Given the description of an element on the screen output the (x, y) to click on. 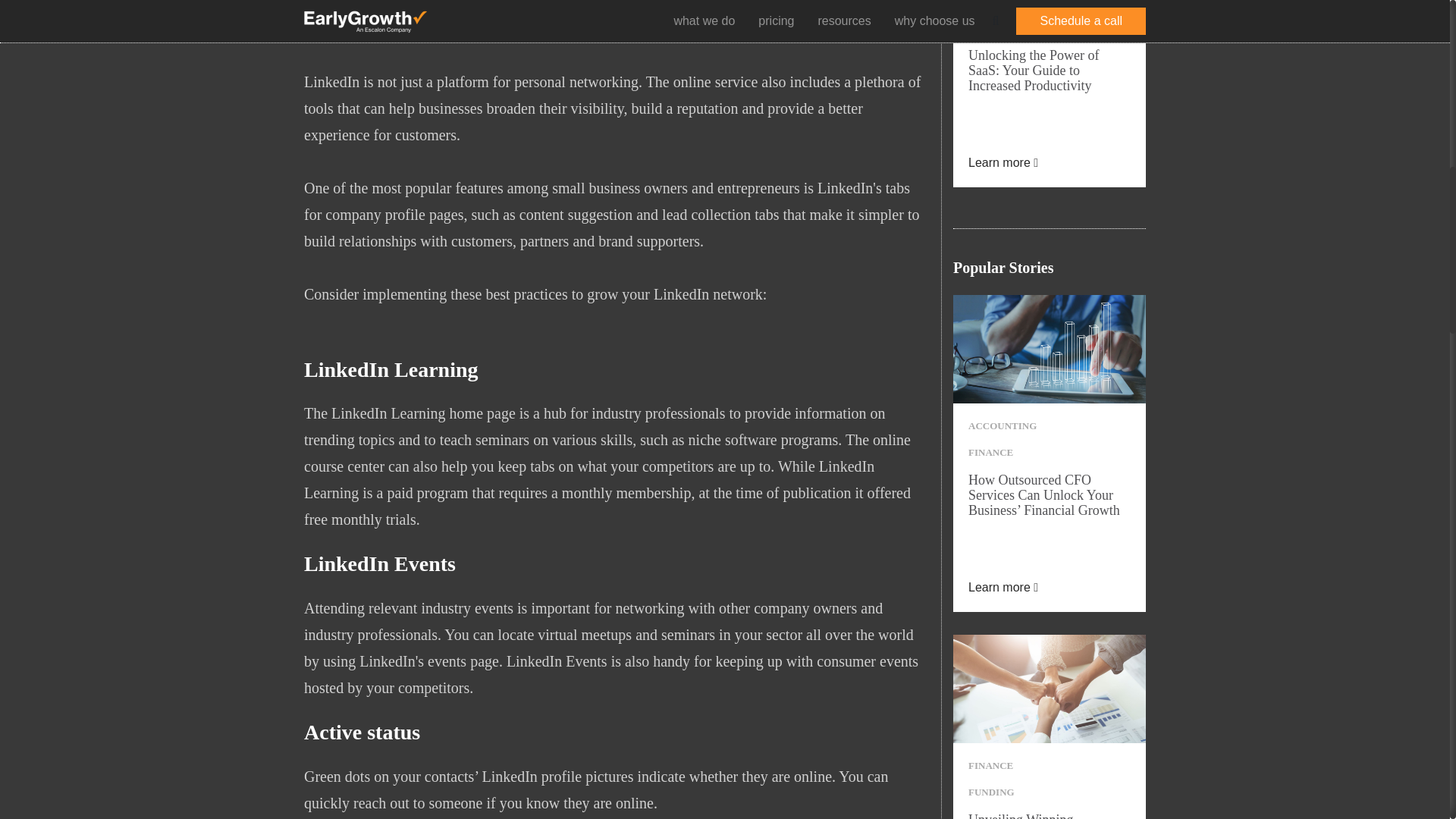
Business Financial Growth (1049, 348)
LinkedIn social network icons (617, 19)
